Given the description of an element on the screen output the (x, y) to click on. 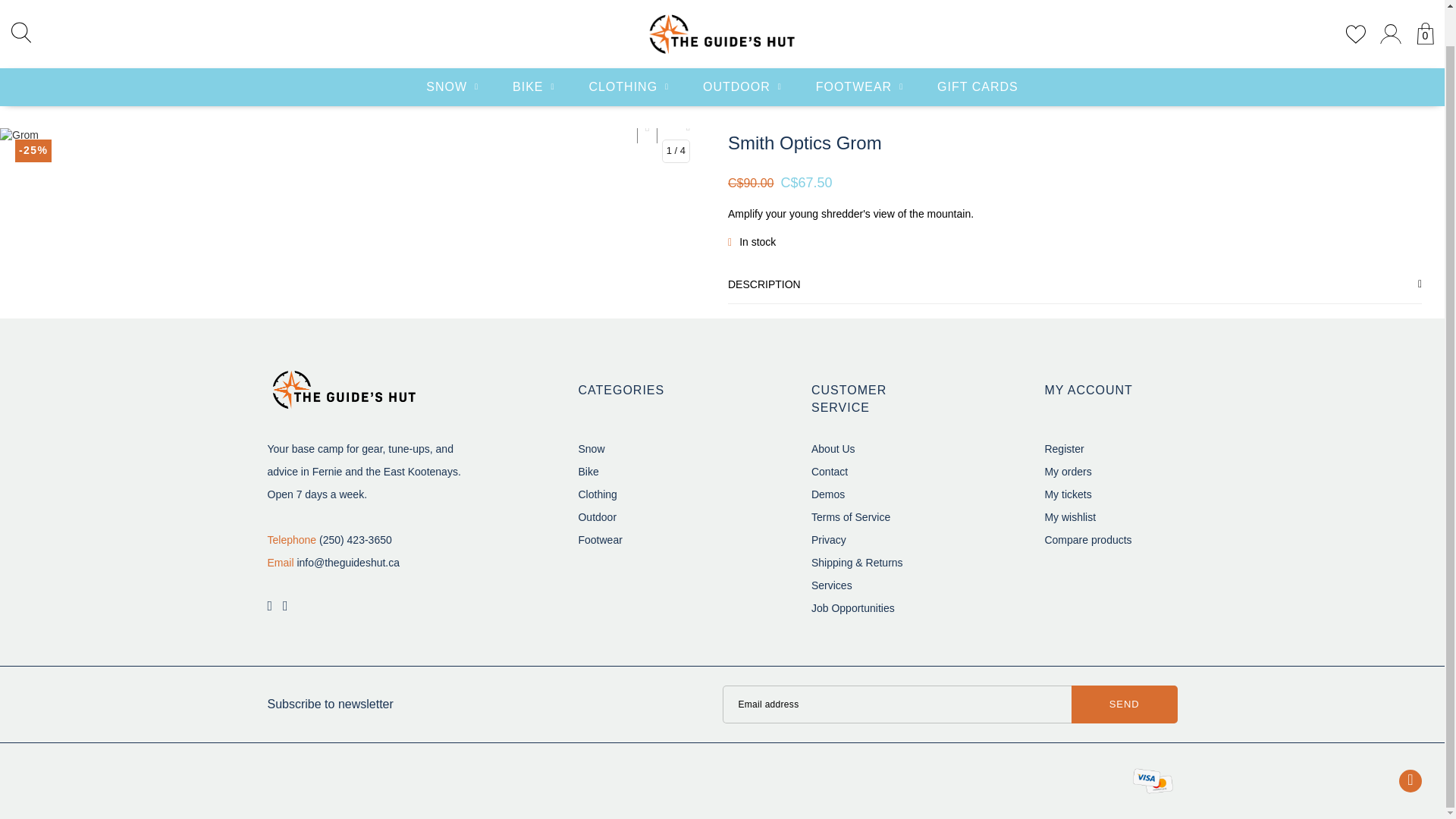
Gift Cards (977, 48)
Register (1063, 449)
My wishlist (1069, 517)
Home (24, 92)
Subscribe (1124, 704)
My orders (1066, 471)
My tickets (1066, 494)
